Given the description of an element on the screen output the (x, y) to click on. 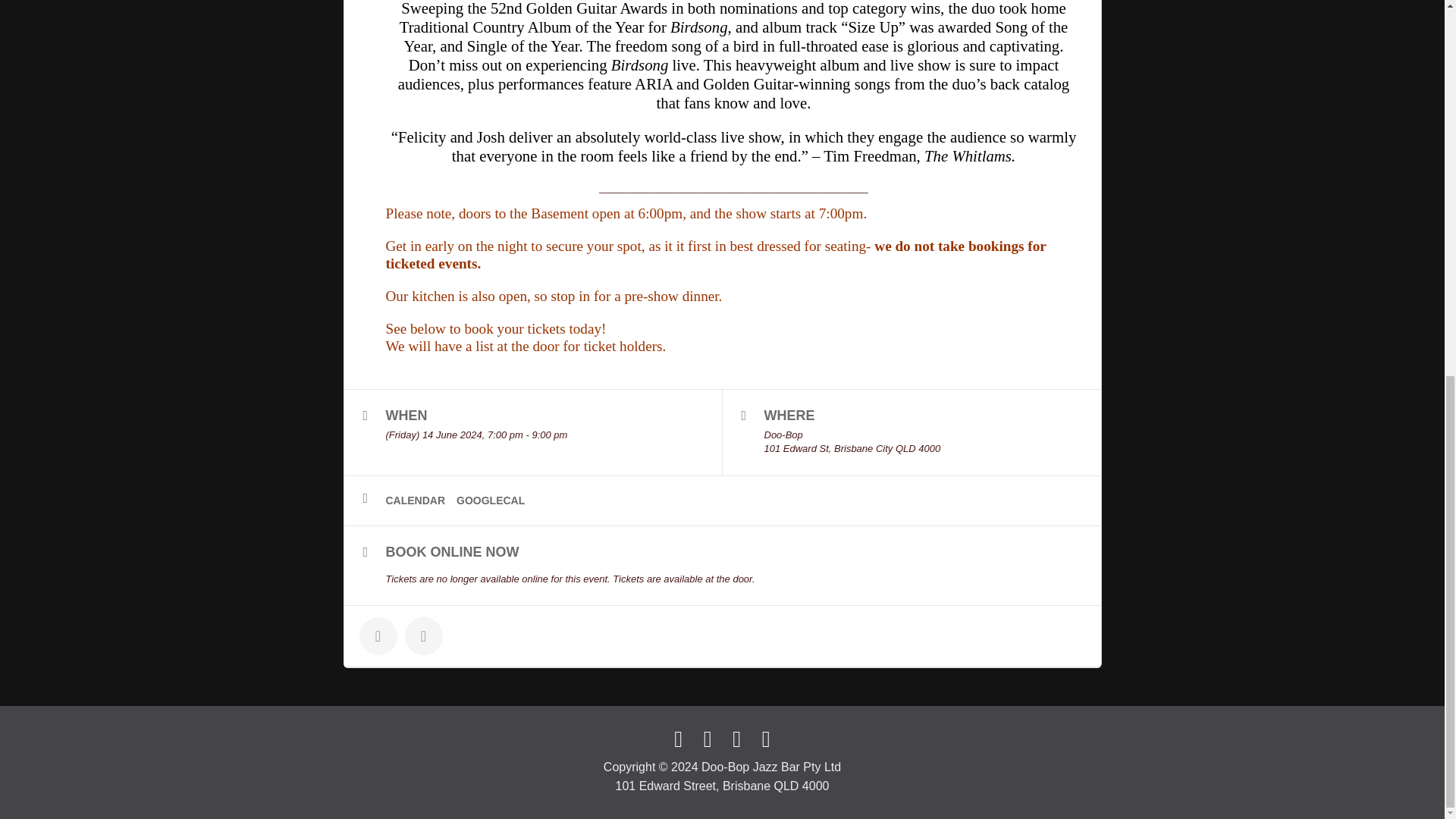
Add to your calendar (421, 499)
Facebook (678, 738)
Google (765, 738)
Add to google calendar (496, 499)
GOOGLECAL (496, 499)
YouTube (736, 738)
Instagram (707, 738)
CALENDAR (421, 499)
